Given the description of an element on the screen output the (x, y) to click on. 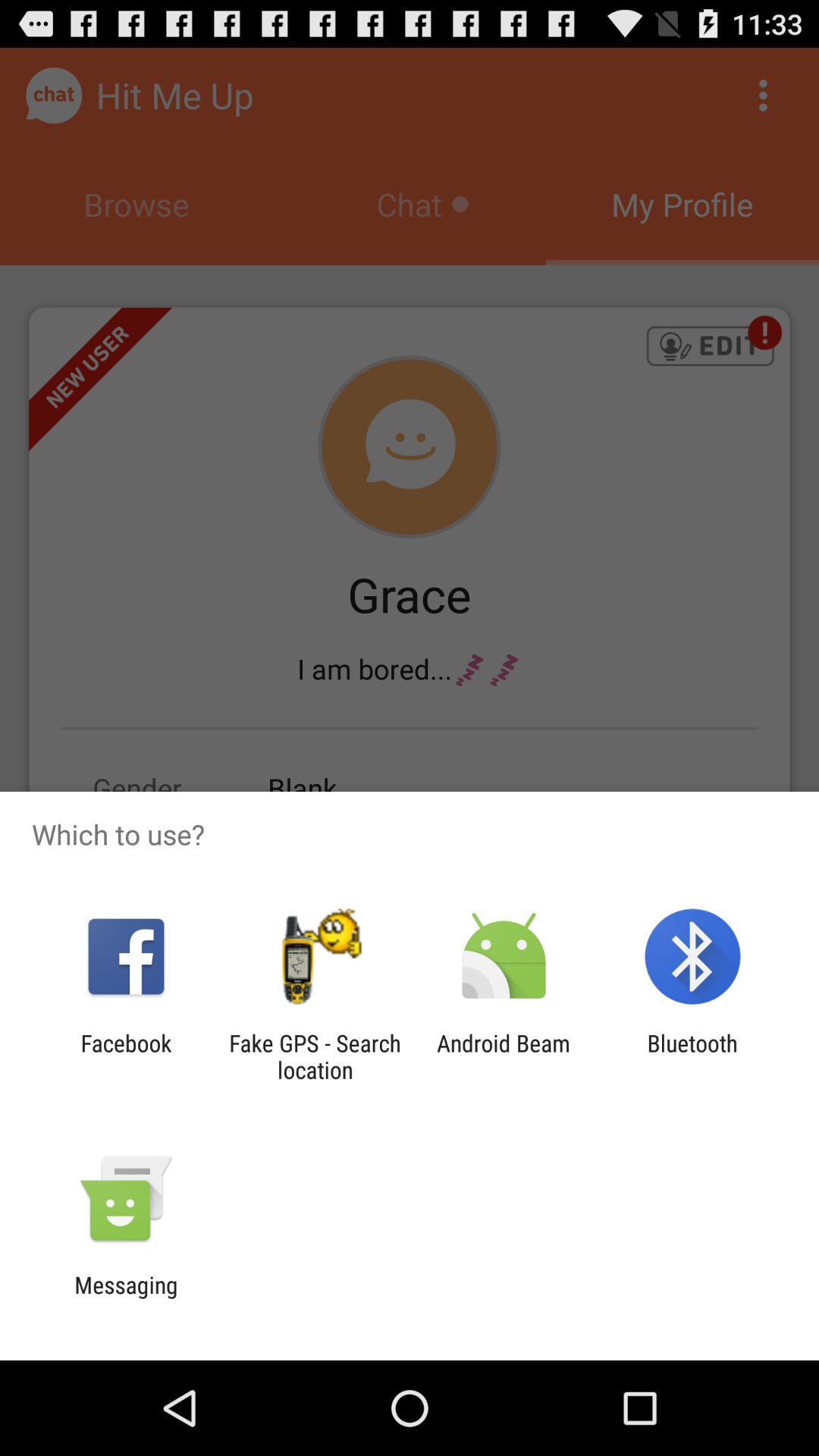
launch the app to the left of the android beam app (314, 1056)
